Given the description of an element on the screen output the (x, y) to click on. 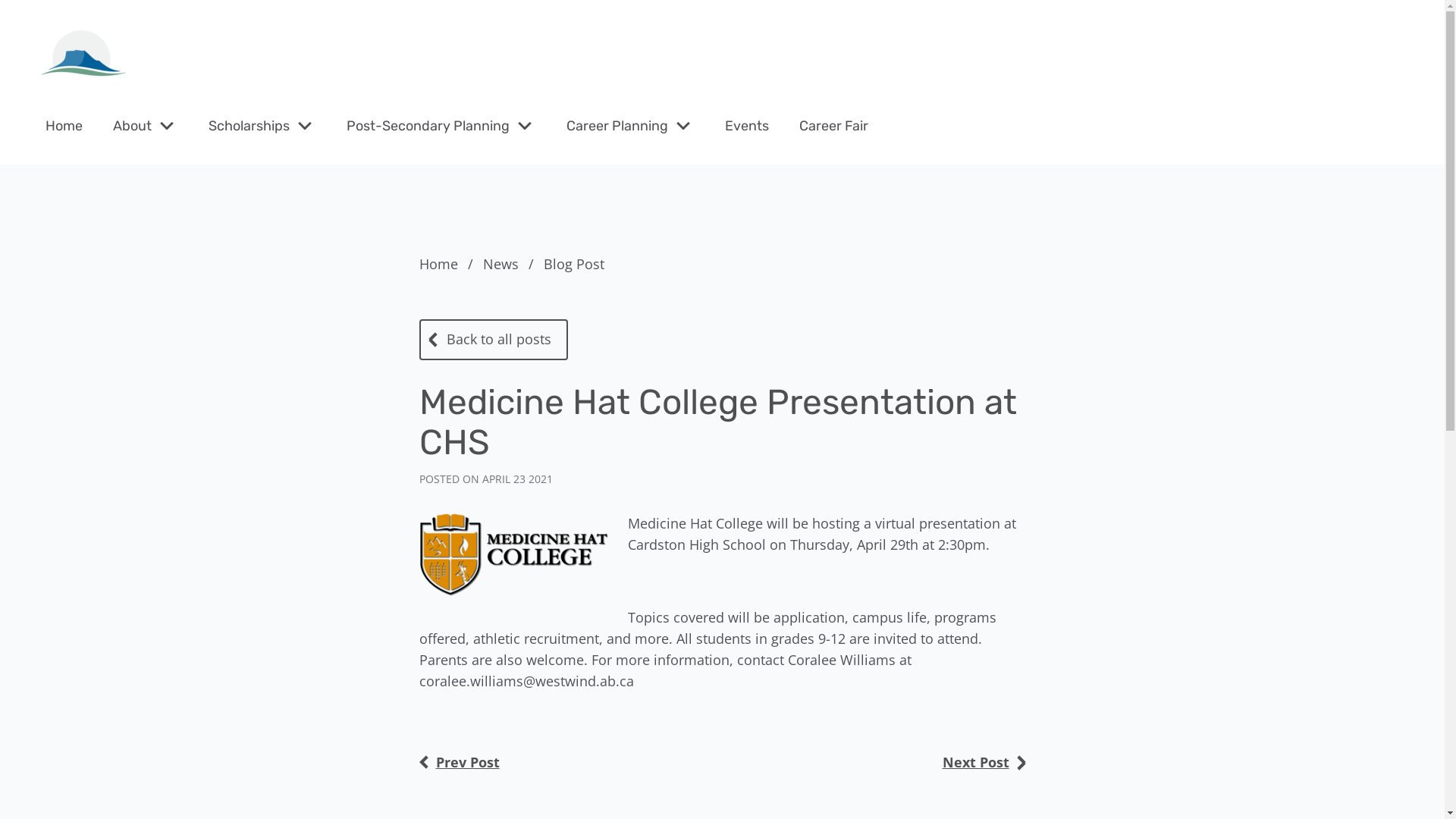
Career Planning Element type: text (617, 125)
Scholarships Element type: text (248, 125)
home Element type: hover (83, 54)
Career Fair Element type: text (833, 125)
About Element type: text (131, 125)
Search Element type: text (45, 19)
Post-Secondary Planning Element type: text (427, 125)
Next Post Element type: text (983, 762)
Prev Post Element type: text (458, 762)
Home Element type: text (448, 263)
Back to all posts Element type: text (492, 339)
Events Element type: text (746, 125)
Home Element type: text (63, 125)
News Element type: text (510, 263)
